Given the description of an element on the screen output the (x, y) to click on. 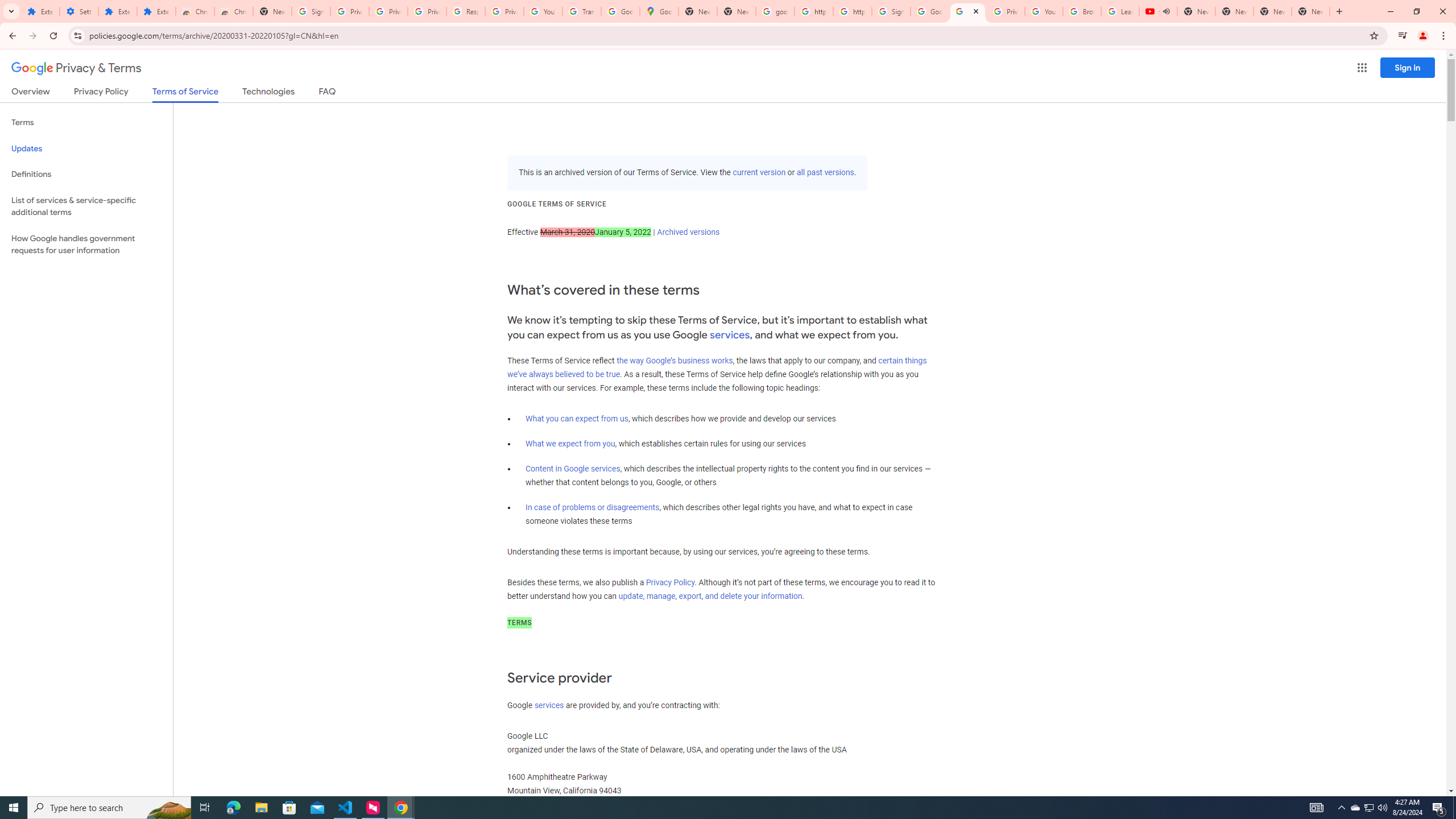
Archived versions (688, 231)
Definitions (86, 174)
New Tab (272, 11)
https://scholar.google.com/ (852, 11)
List of services & service-specific additional terms (86, 206)
